Given the description of an element on the screen output the (x, y) to click on. 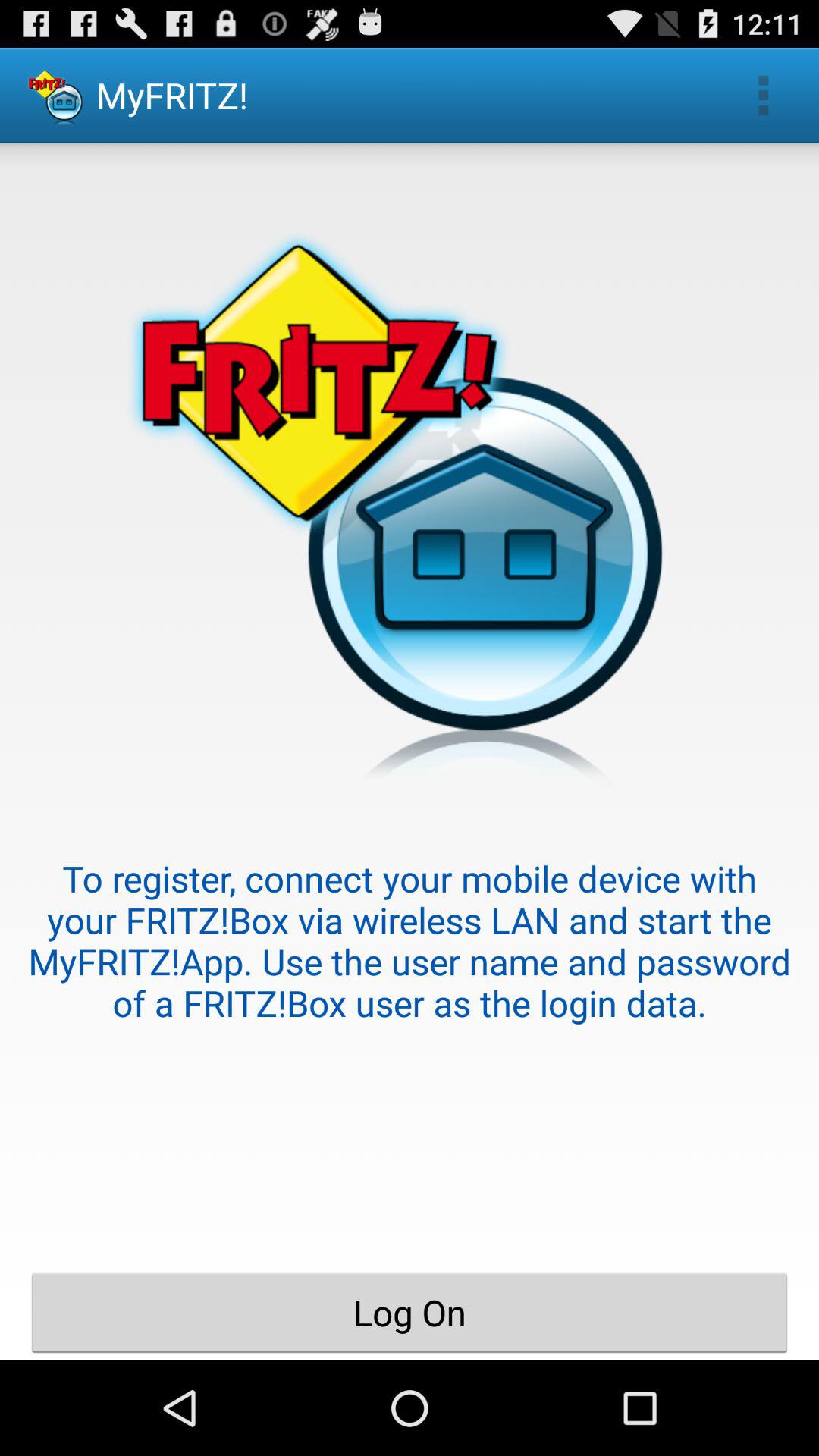
select the app to the right of the myfritz! item (763, 95)
